Given the description of an element on the screen output the (x, y) to click on. 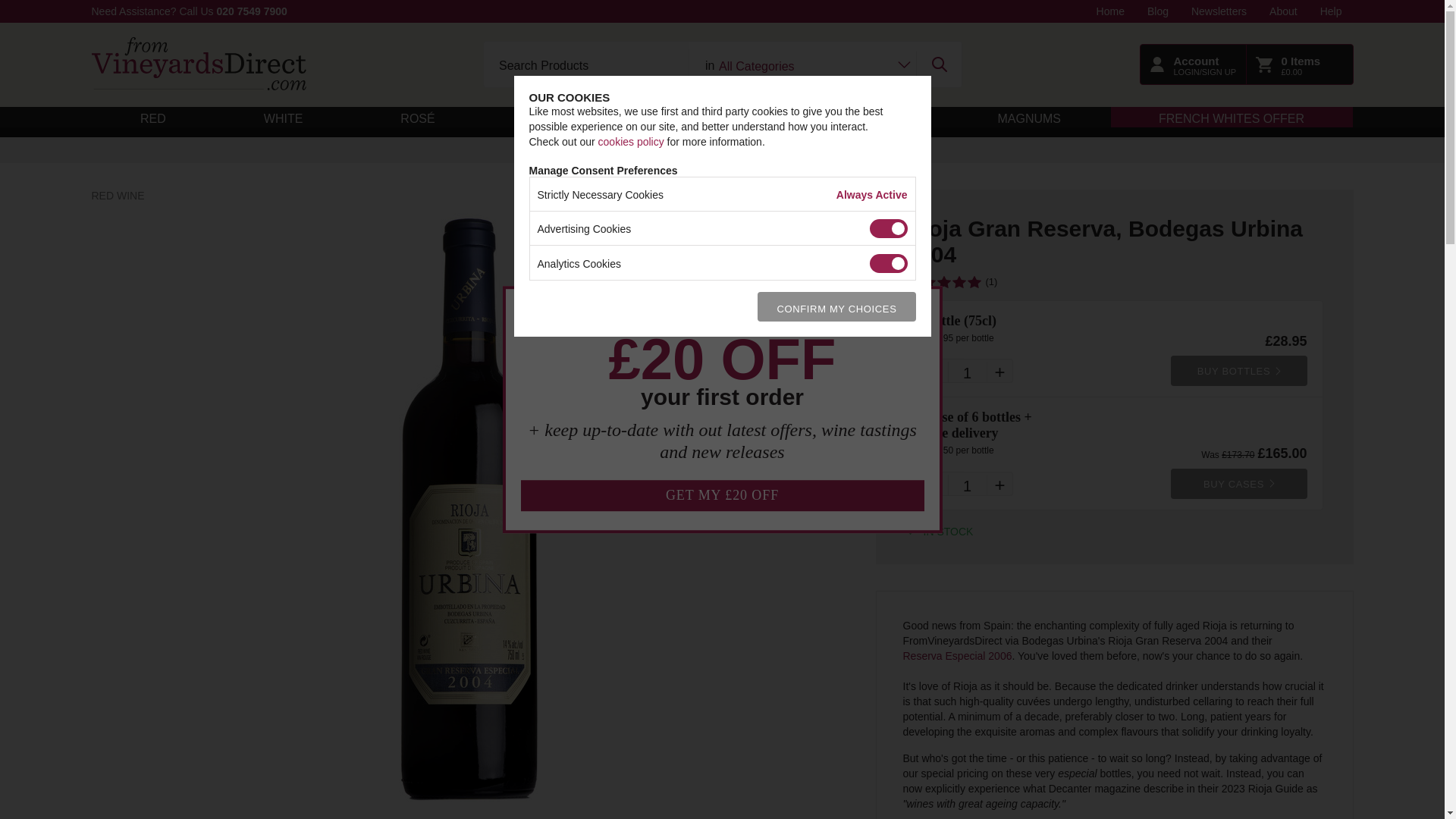
star (913, 282)
Home (1110, 11)
All Categories (801, 65)
star (974, 282)
Confirm My Choices (836, 306)
1 (967, 370)
Help (1331, 11)
Blog (1158, 11)
cookies policy (630, 141)
RED (153, 117)
About (1283, 11)
020 7549 7900 (250, 11)
star (928, 282)
Confirm My Choices (836, 306)
star (943, 282)
